Given the description of an element on the screen output the (x, y) to click on. 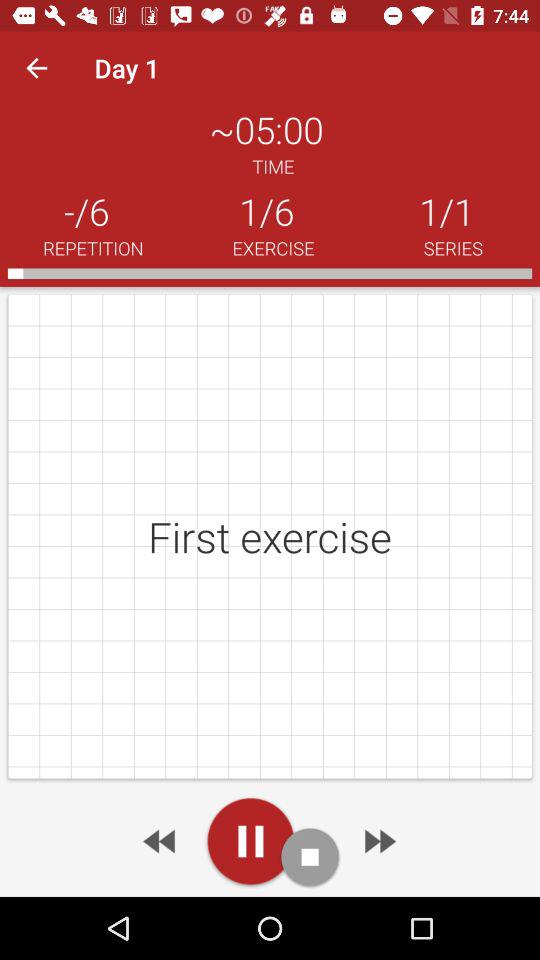
go to previous (161, 841)
